Given the description of an element on the screen output the (x, y) to click on. 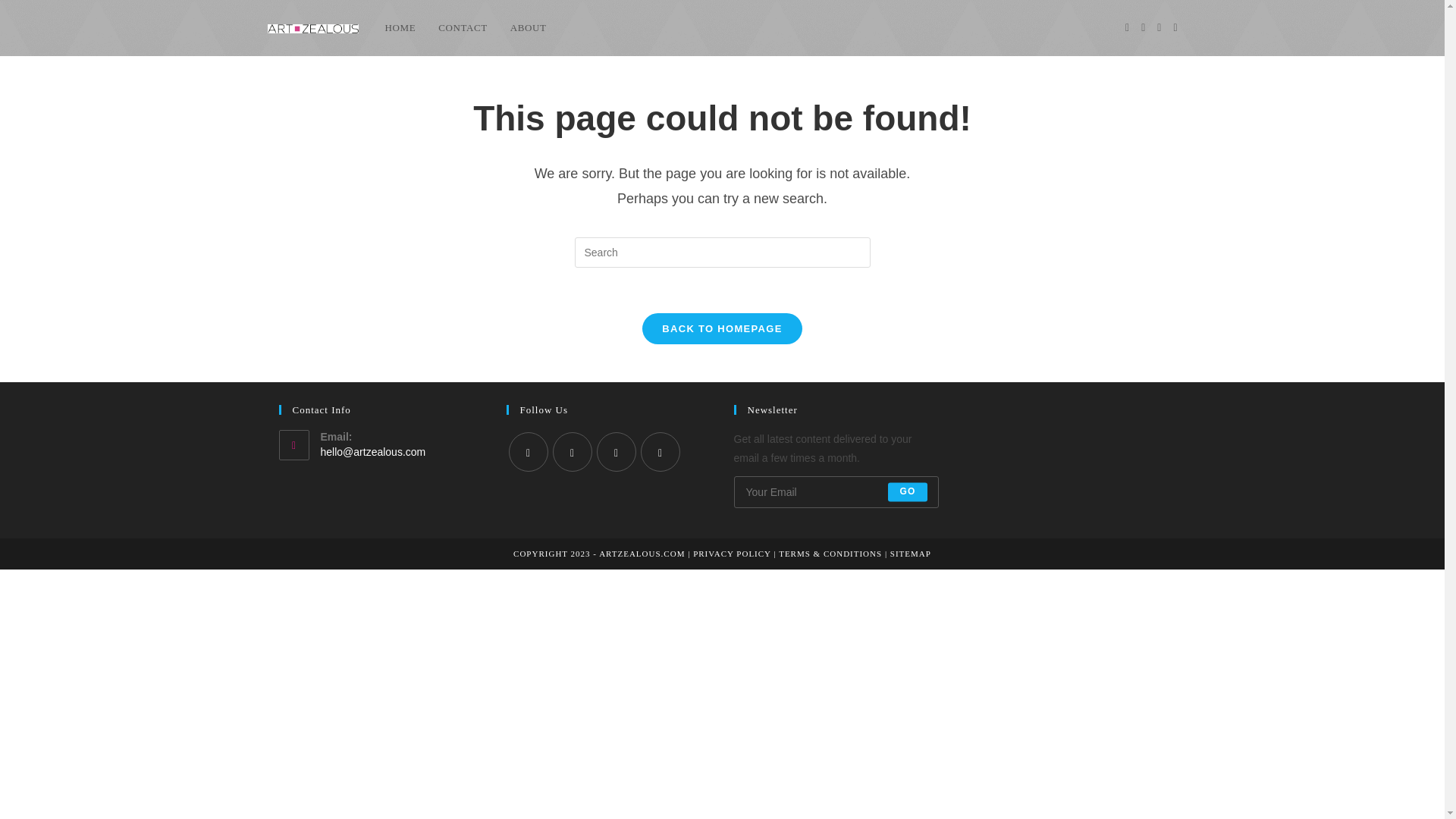
ABOUT (528, 28)
SITEMAP (910, 552)
GO (907, 491)
BACK TO HOMEPAGE (722, 327)
PRIVACY POLICY (732, 552)
CONTACT (462, 28)
HOME (399, 28)
